Given the description of an element on the screen output the (x, y) to click on. 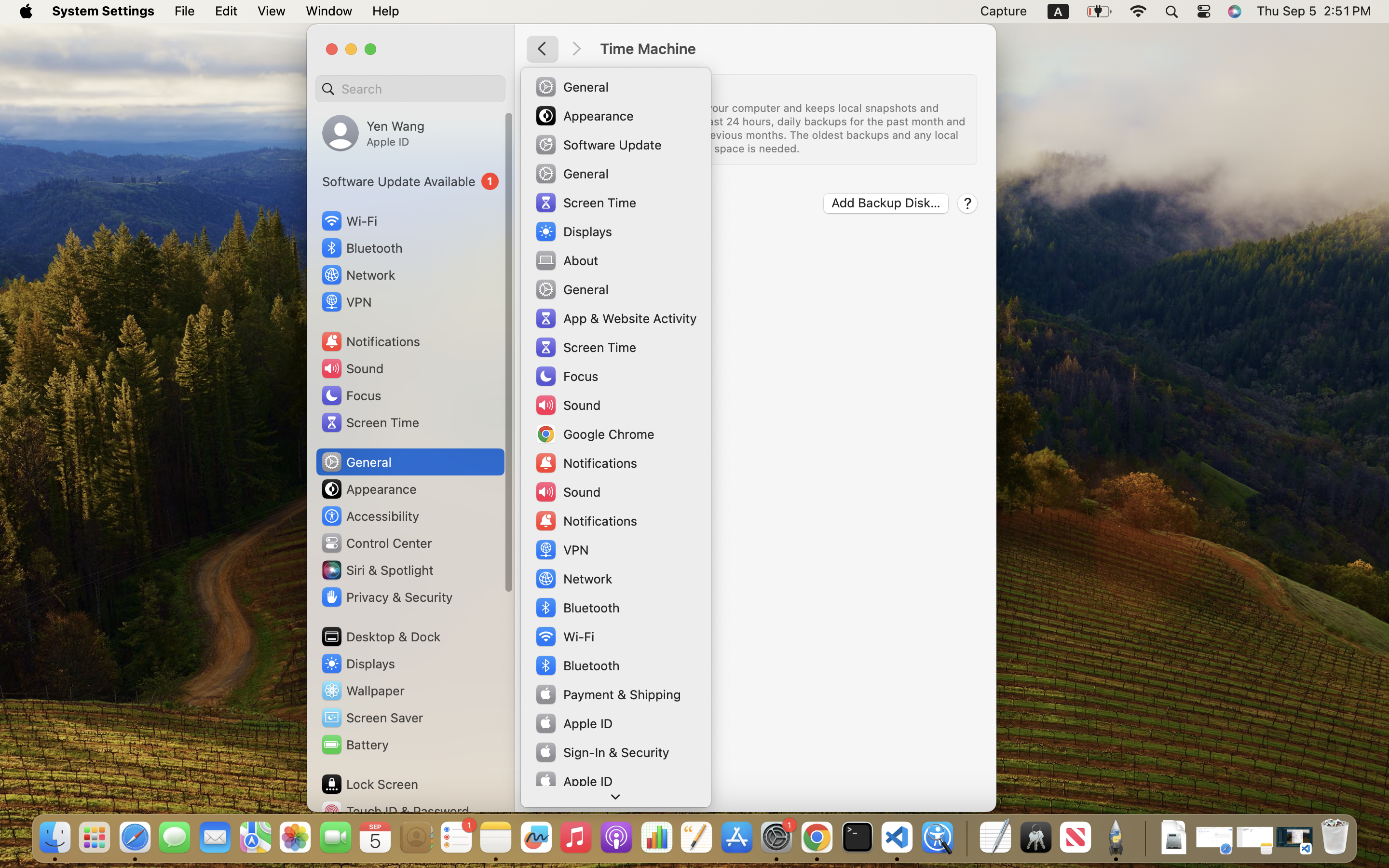
Touch ID & Password Element type: AXStaticText (394, 810)
Time Machine Element type: AXStaticText (788, 49)
Network Element type: AXStaticText (357, 274)
Lock Screen Element type: AXStaticText (369, 783)
Focus Element type: AXStaticText (350, 394)
